Given the description of an element on the screen output the (x, y) to click on. 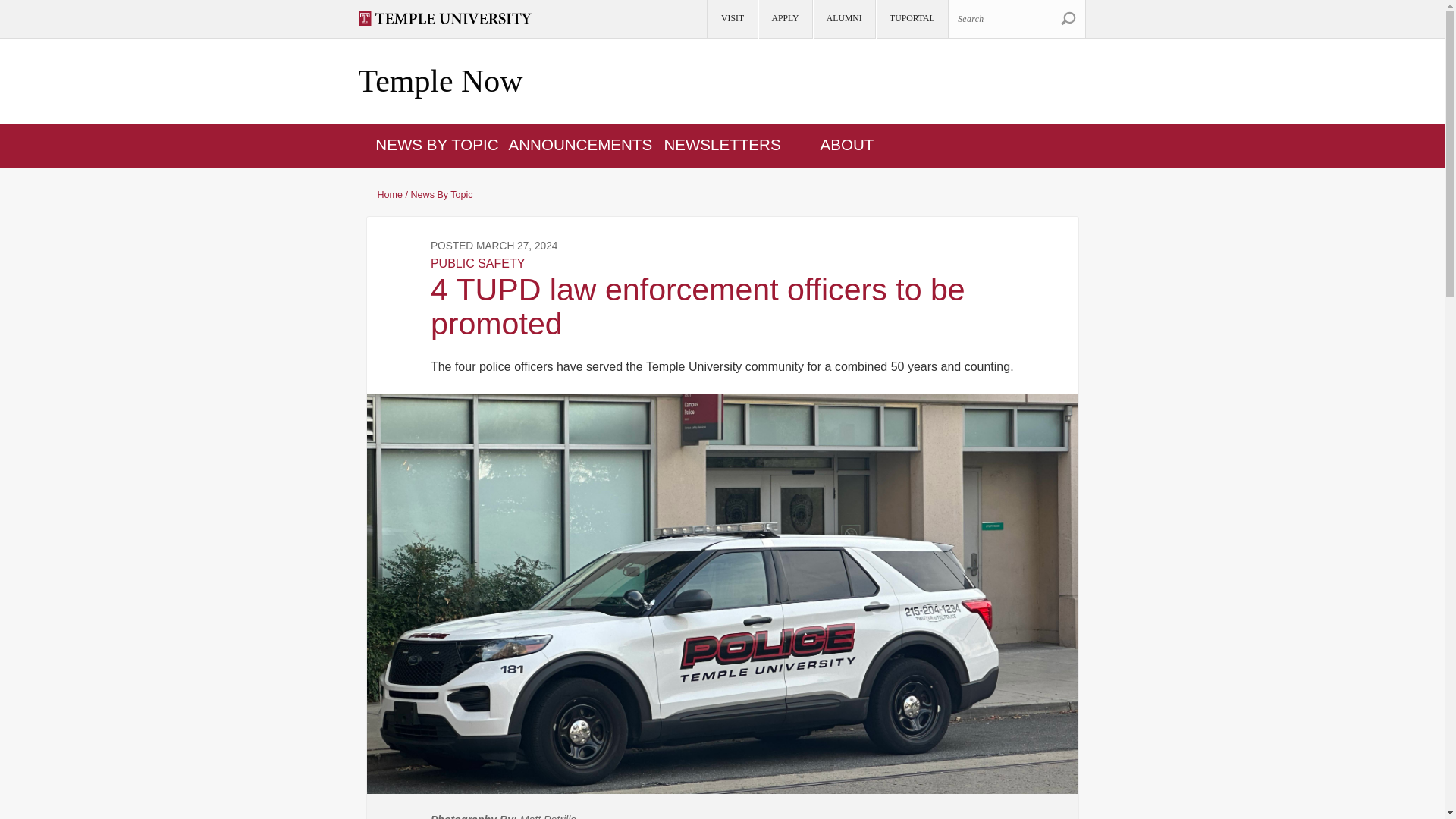
Search (1067, 18)
VISIT (731, 19)
ANNOUNCEMENTS (580, 144)
ALUMNI (843, 19)
APPLY (784, 19)
ABOUT (848, 144)
NEWS BY TOPIC (436, 144)
Visit Temple.edu (451, 18)
NEWSLETTERS (721, 144)
Search Site (1067, 18)
Search (1067, 18)
Home (440, 81)
Temple Now (440, 81)
Search (1016, 18)
TUPORTAL (911, 19)
